Given the description of an element on the screen output the (x, y) to click on. 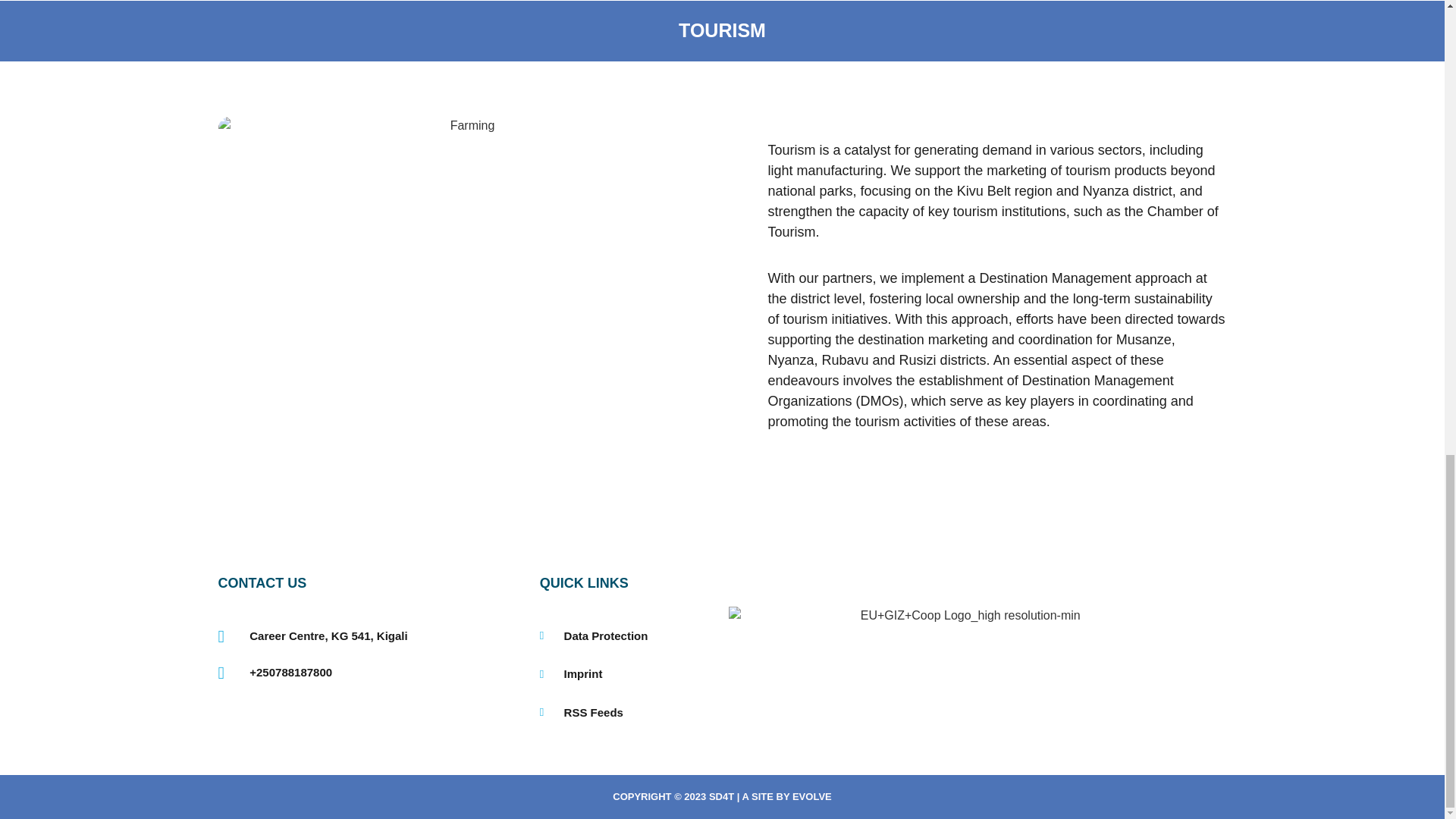
Imprint (611, 674)
Data Protection (611, 636)
RSS Feeds (611, 712)
